Given the description of an element on the screen output the (x, y) to click on. 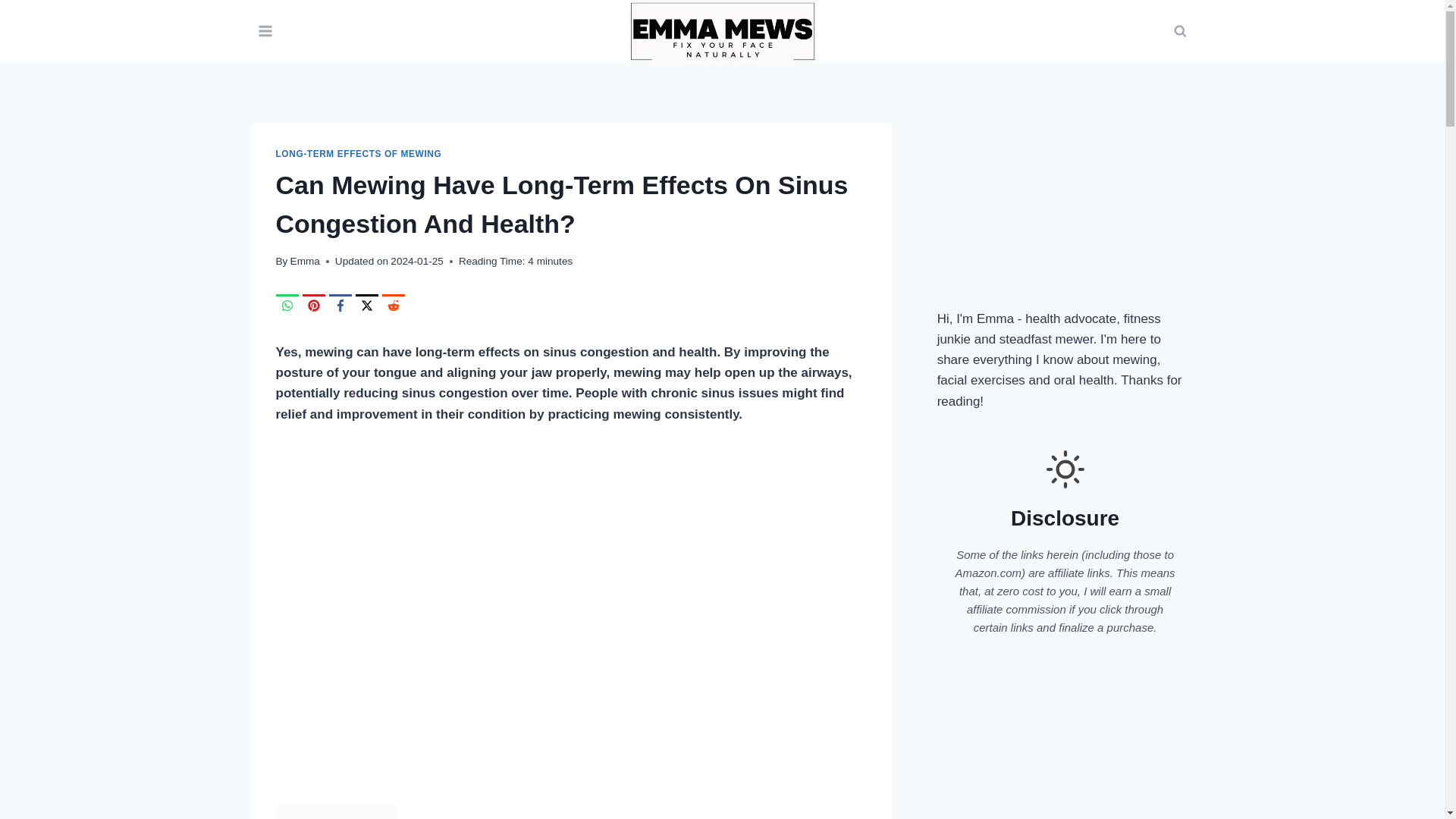
LONG-TERM EFFECTS OF MEWING (359, 153)
Emma (304, 260)
